Given the description of an element on the screen output the (x, y) to click on. 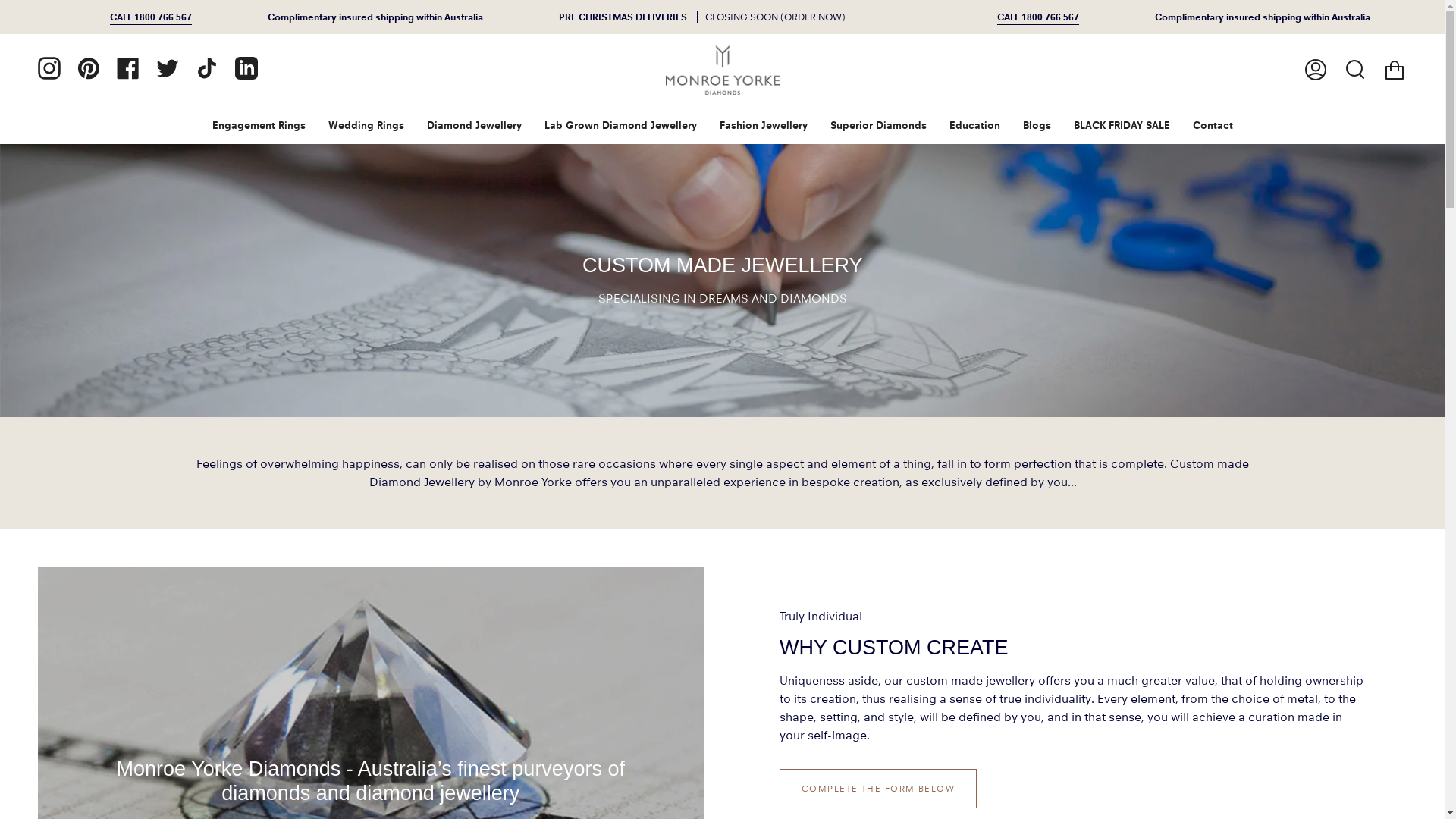
Cart Element type: text (1394, 70)
Wedding Rings Element type: text (365, 124)
My Account Element type: text (1315, 70)
Instagram Element type: text (49, 68)
Twitter Element type: text (167, 68)
Linkedin Element type: text (246, 68)
Search Element type: text (1354, 70)
Superior Diamonds Element type: text (878, 124)
CALL 1800 766 567 Element type: text (150, 16)
Contact Element type: text (1212, 124)
COMPLETE THE FORM BELOW Element type: text (877, 788)
Facebook Element type: text (127, 68)
BLACK FRIDAY SALE Element type: text (1120, 124)
Education Element type: text (973, 124)
Fashion Jewellery Element type: text (763, 124)
Diamond Jewellery Element type: text (474, 124)
CALL 1800 766 567 Element type: text (1038, 16)
Lab Grown Diamond Jewellery Element type: text (619, 124)
Pinterest Element type: text (88, 68)
TikTok Element type: text (206, 68)
Blogs Element type: text (1036, 124)
Engagement Rings Element type: text (258, 124)
